Given the description of an element on the screen output the (x, y) to click on. 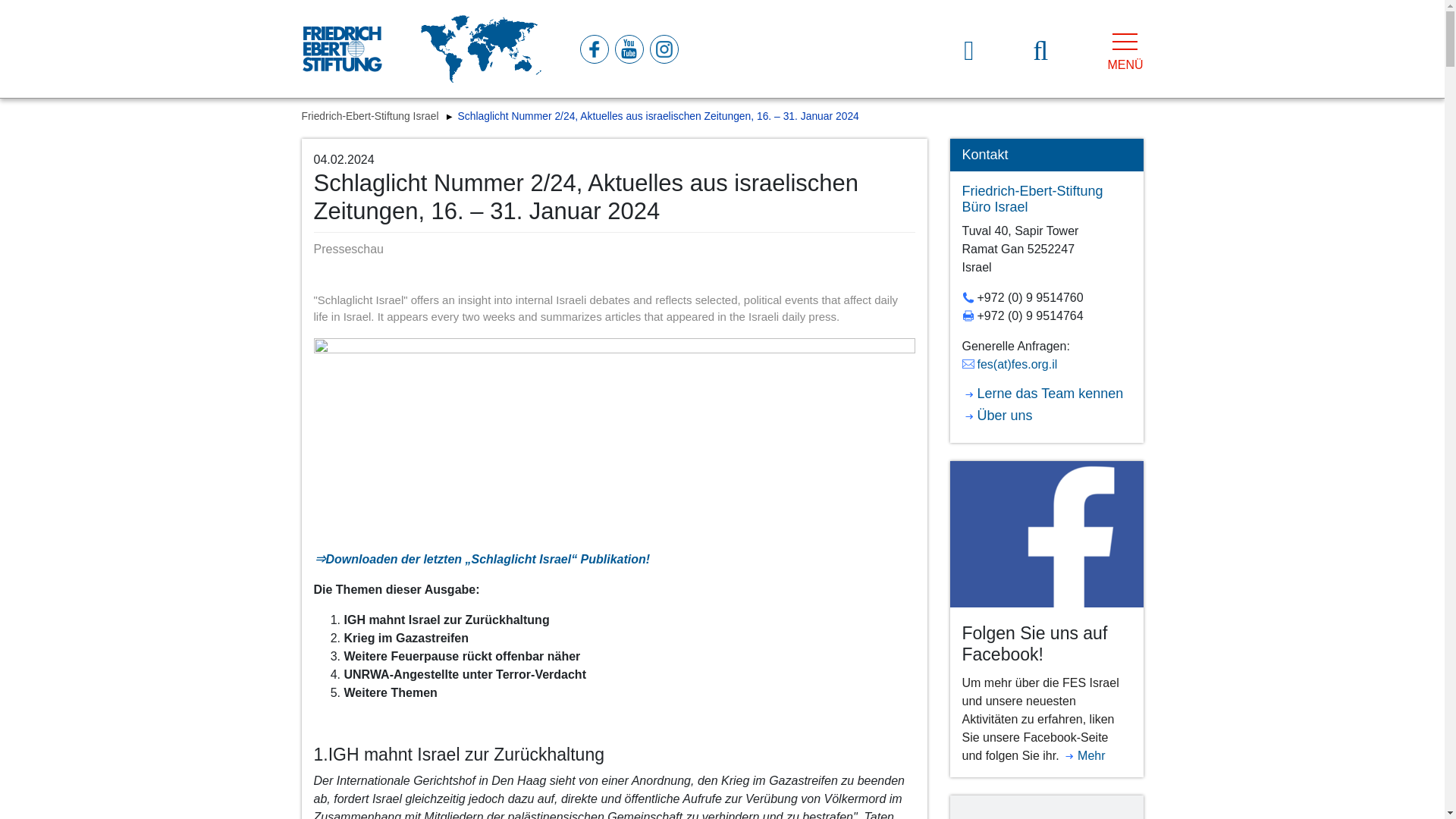
instagram (663, 48)
Home Seite (341, 48)
Schlaglicht 13 22 Custom dimensions (614, 438)
Facebook Teaser (1045, 534)
facebook (593, 48)
Folgen Sie uns auf Facebook!  (1045, 533)
Friedrich-Ebert-Stiftung Israel (371, 115)
Youtube Teaser (1045, 807)
